Given the description of an element on the screen output the (x, y) to click on. 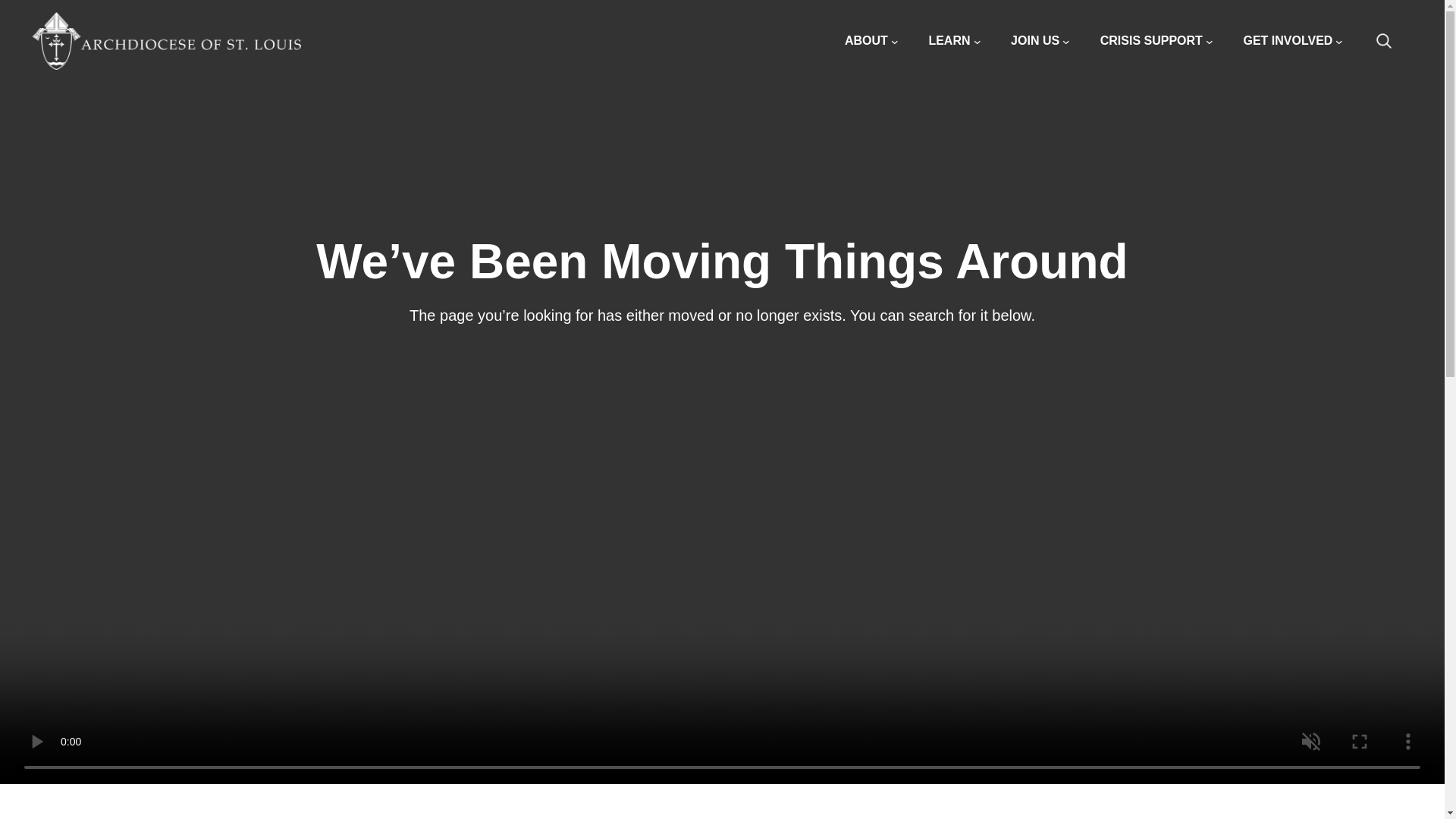
LEARN (953, 40)
ABOUT (871, 40)
JOIN US (1040, 40)
search (1392, 40)
GET INVOLVED (1292, 40)
CRISIS SUPPORT (1156, 40)
